Given the description of an element on the screen output the (x, y) to click on. 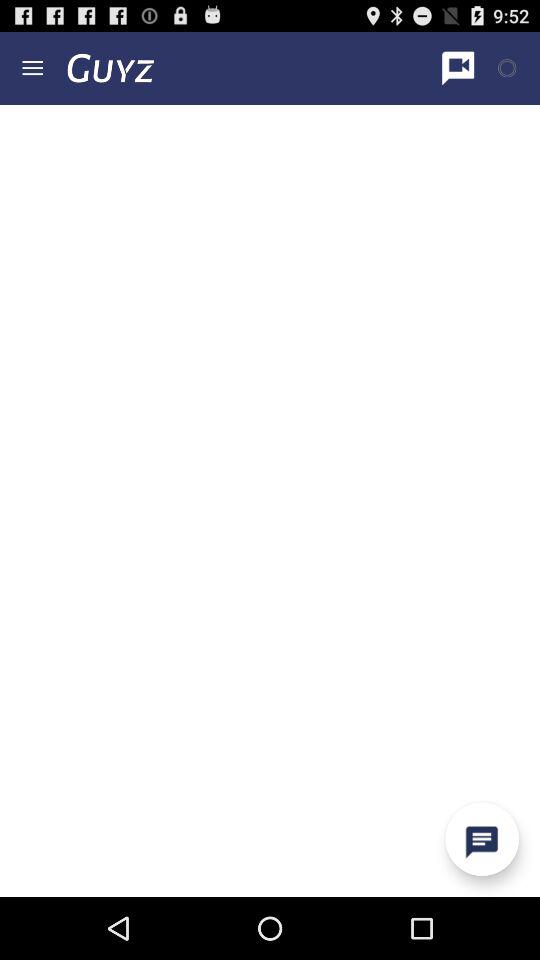
click icon at the bottom right corner (482, 839)
